Given the description of an element on the screen output the (x, y) to click on. 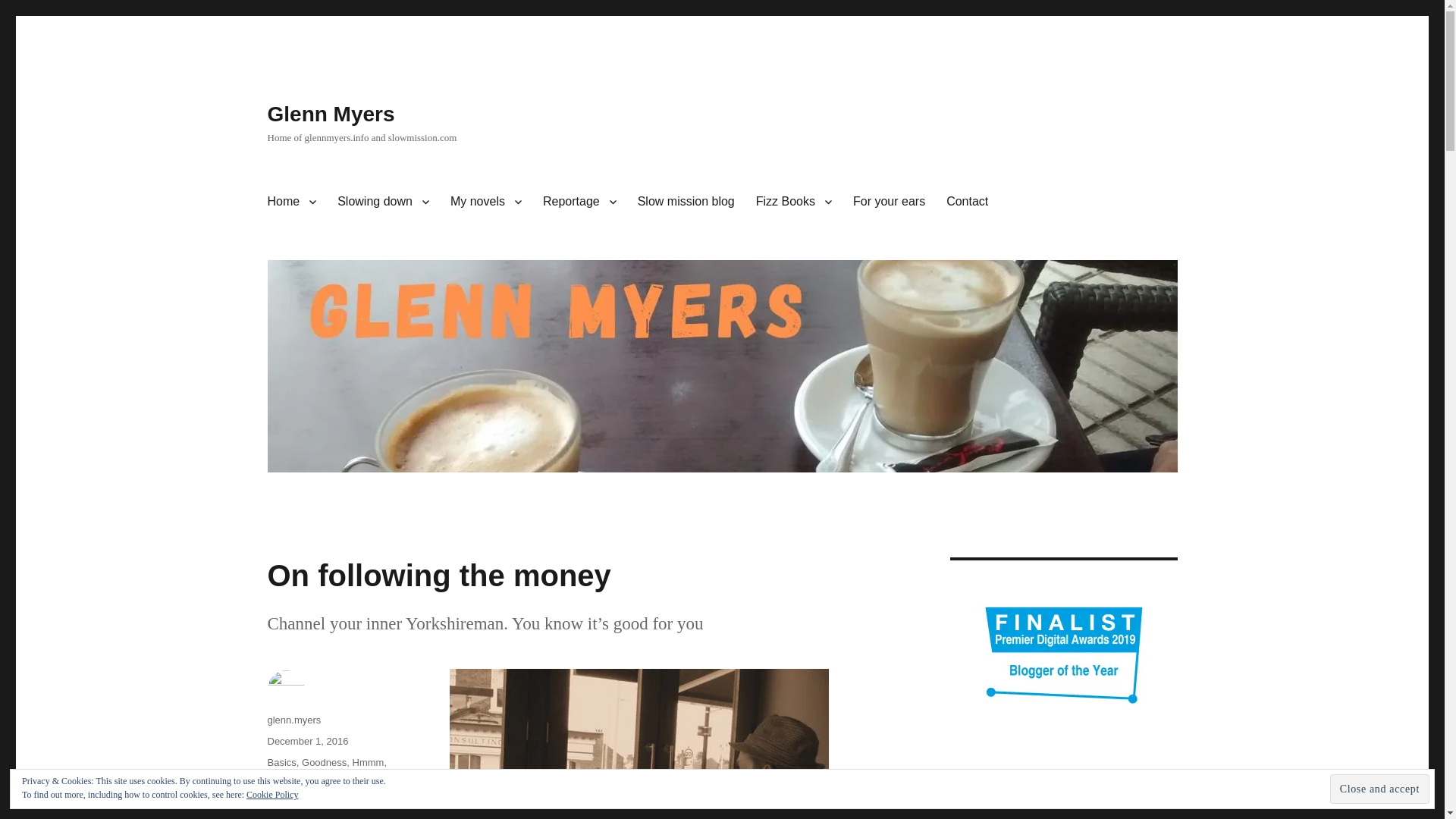
Slowing down (382, 201)
Home (291, 201)
Glenn Myers (330, 114)
Reportage (579, 201)
Untitled (676, 744)
My novels (485, 201)
Close and accept (1379, 788)
